Given the description of an element on the screen output the (x, y) to click on. 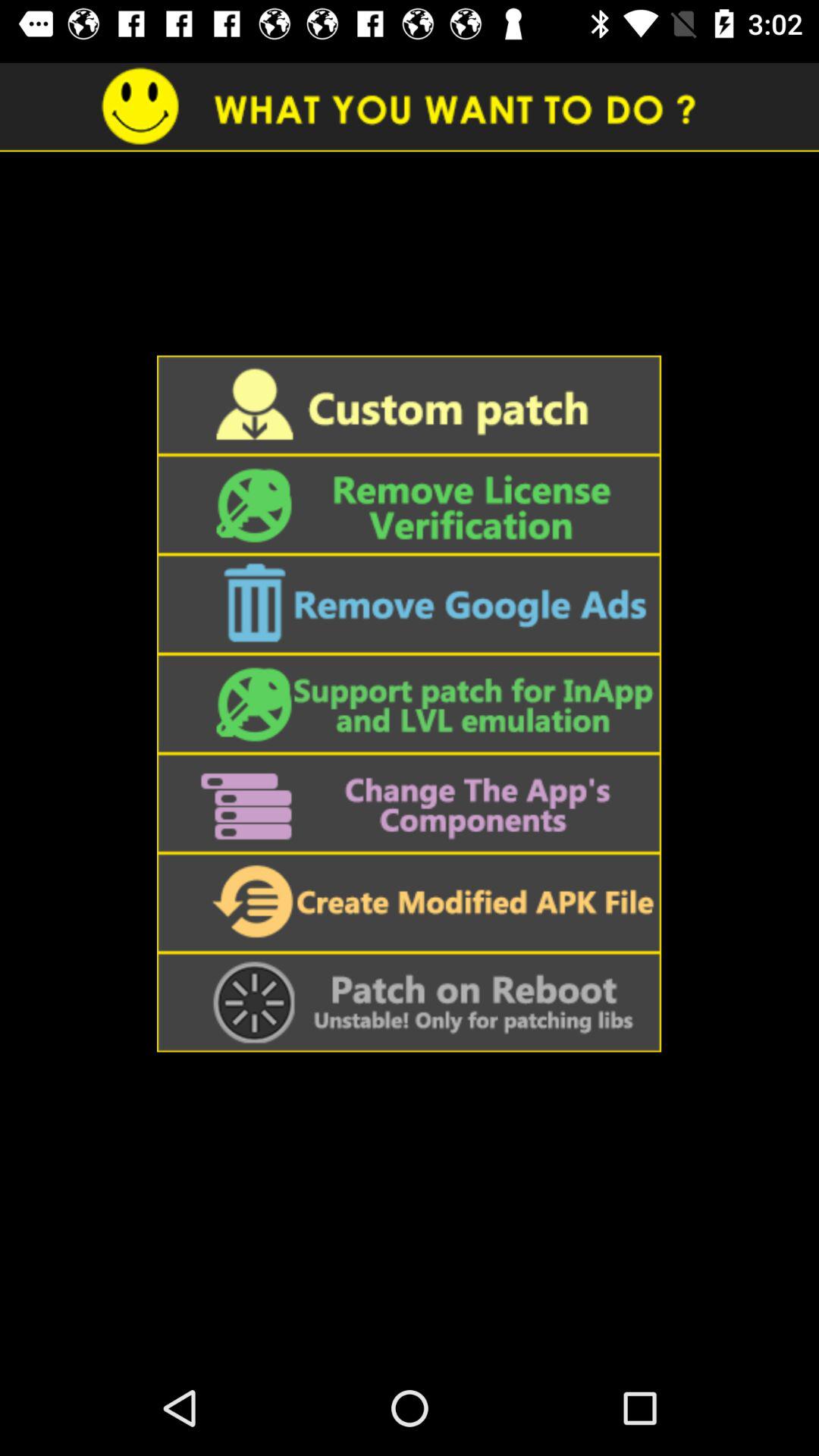
open settings tab (408, 803)
